Given the description of an element on the screen output the (x, y) to click on. 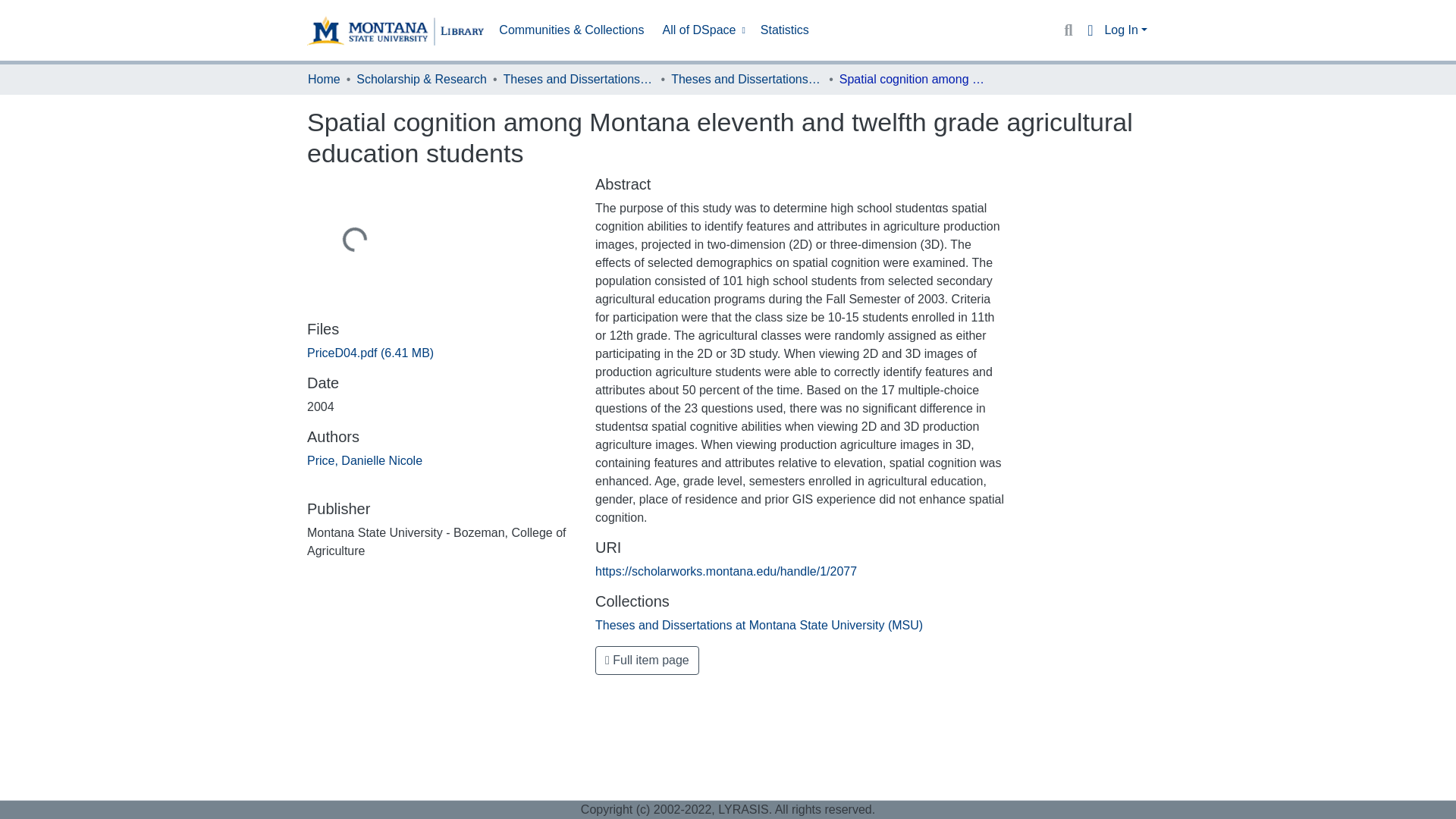
All of DSpace (702, 30)
Statistics (784, 30)
Home (323, 79)
Price, Danielle Nicole (364, 460)
Full item page (646, 660)
Language switch (1089, 30)
Log In (1125, 29)
Search (1067, 30)
